Given the description of an element on the screen output the (x, y) to click on. 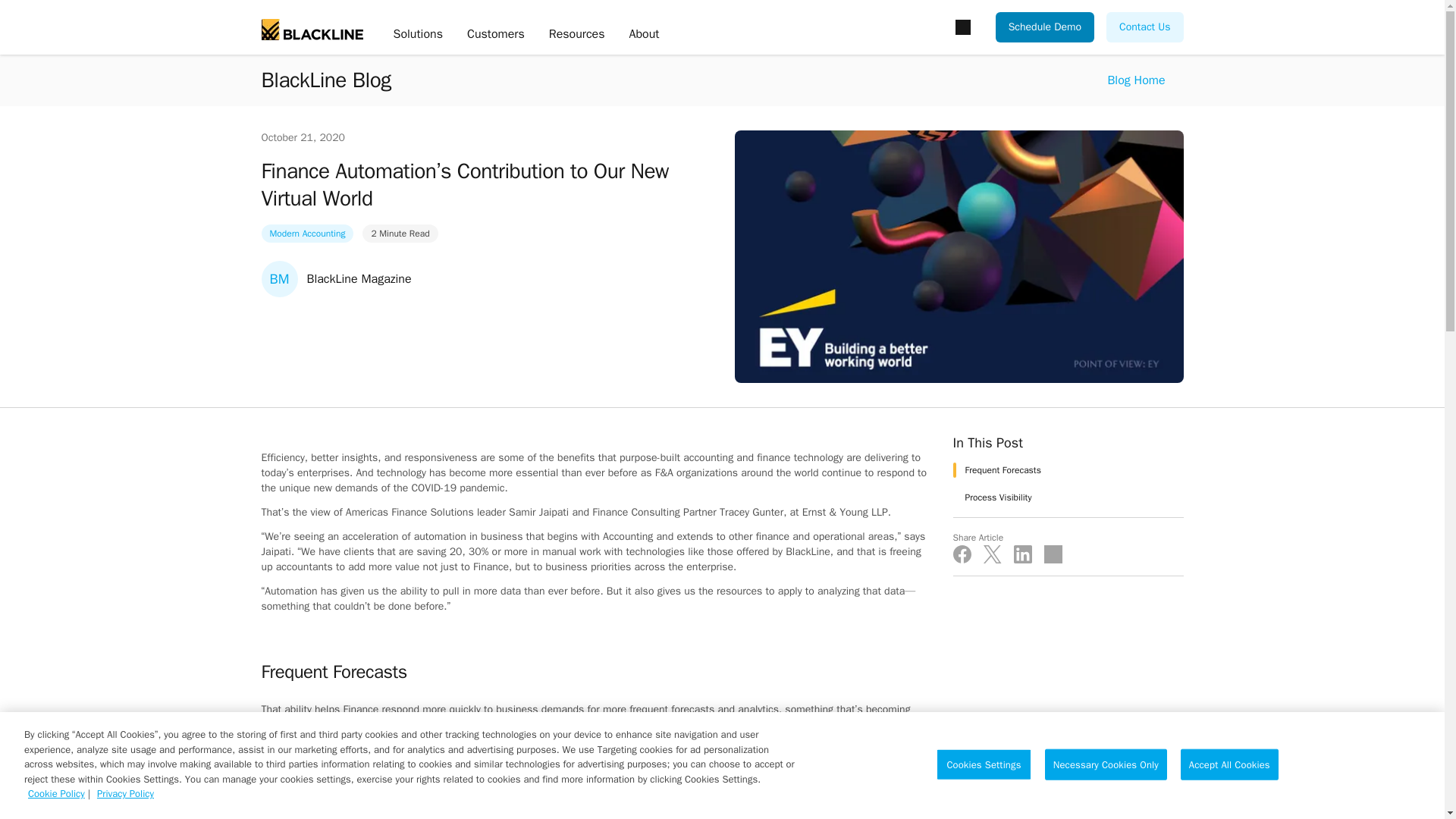
Schedule Demo (1044, 27)
Blog Home (1135, 80)
Solutions (417, 34)
Contact Us (1144, 27)
Resources (576, 34)
Customers (495, 34)
